Given the description of an element on the screen output the (x, y) to click on. 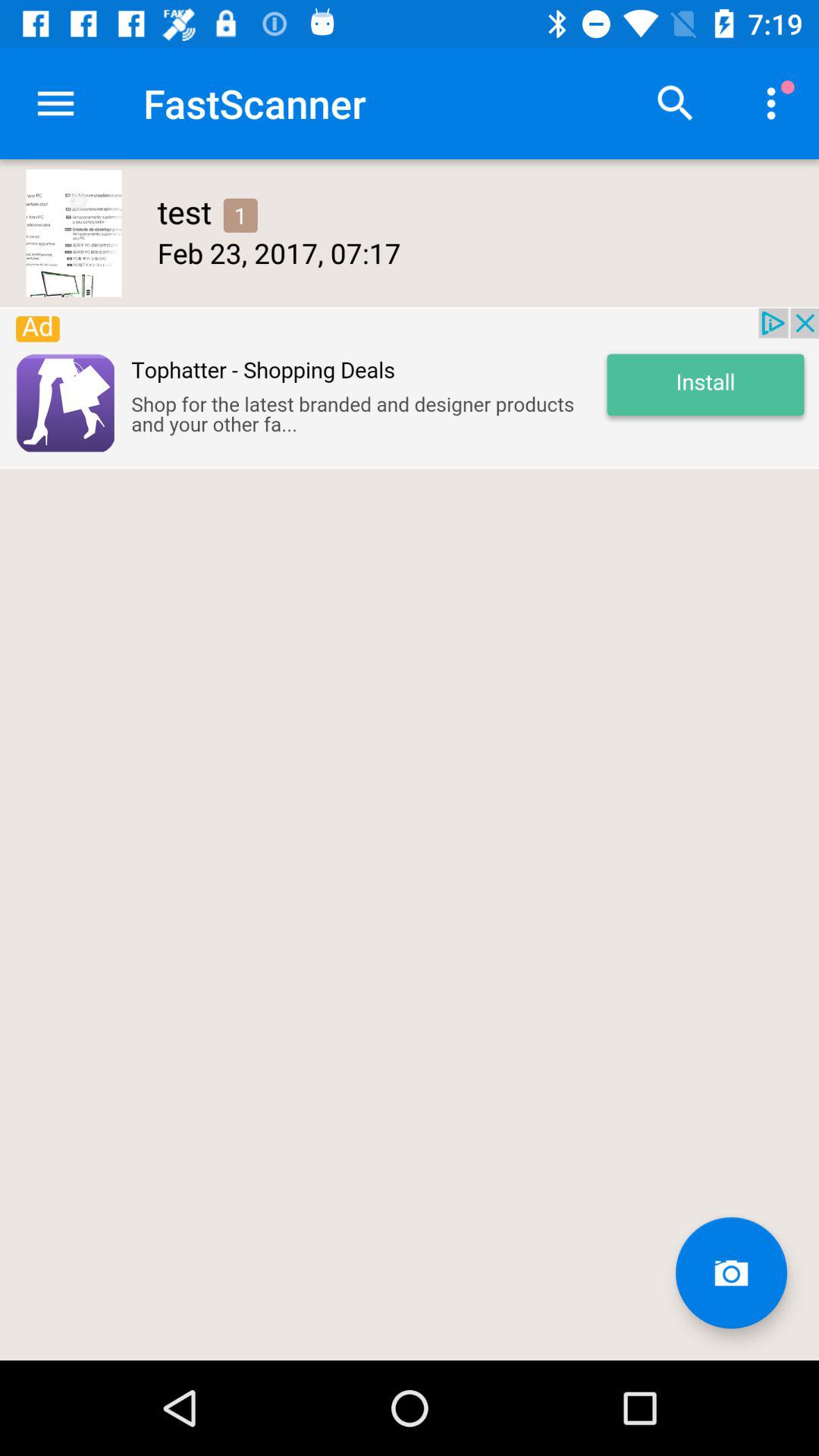
menu (55, 103)
